Given the description of an element on the screen output the (x, y) to click on. 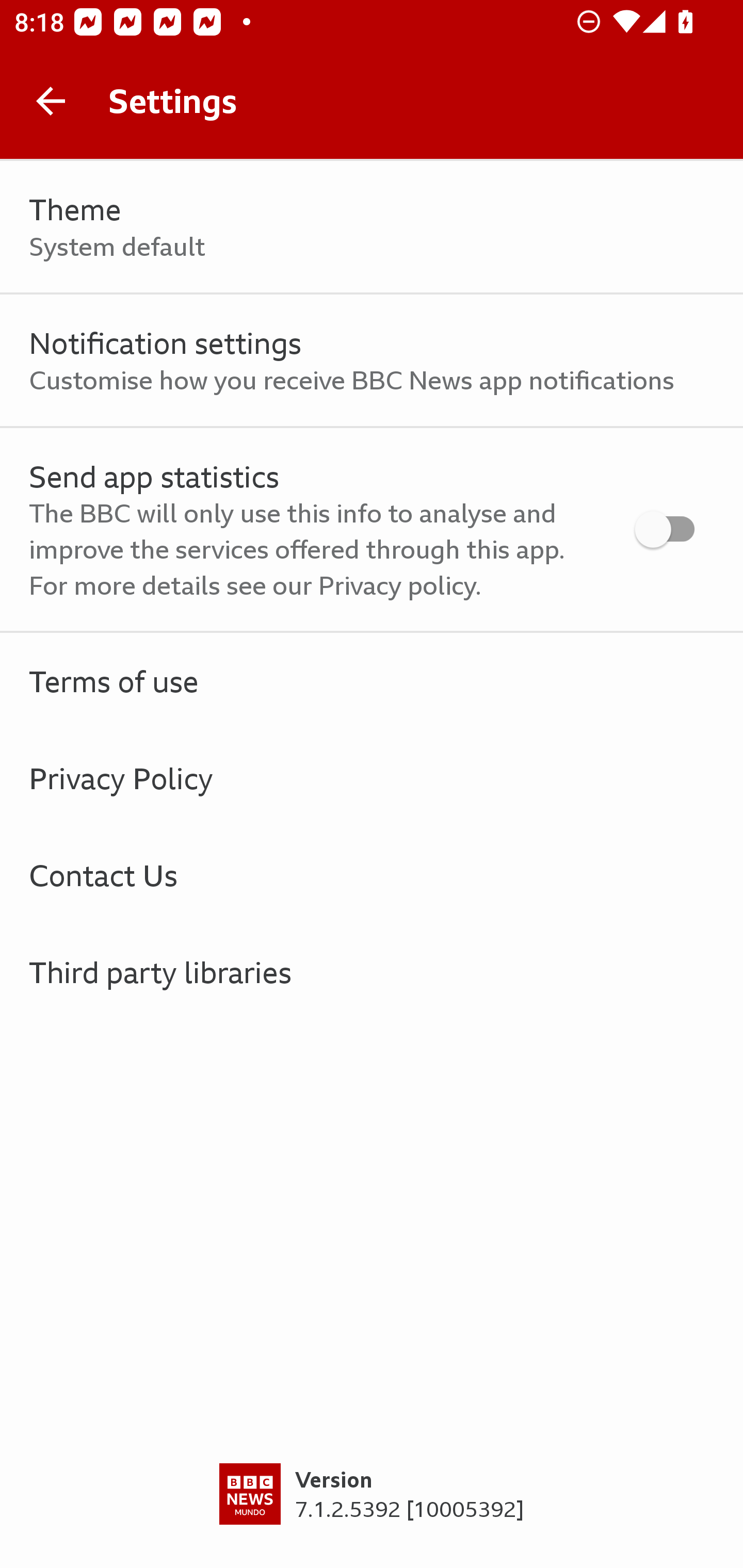
Back (50, 101)
Theme System default (371, 227)
Terms of use (371, 681)
Privacy Policy (371, 777)
Contact Us (371, 874)
Third party libraries (371, 971)
Version 7.1.2.5392 [10005392] (371, 1515)
